Given the description of an element on the screen output the (x, y) to click on. 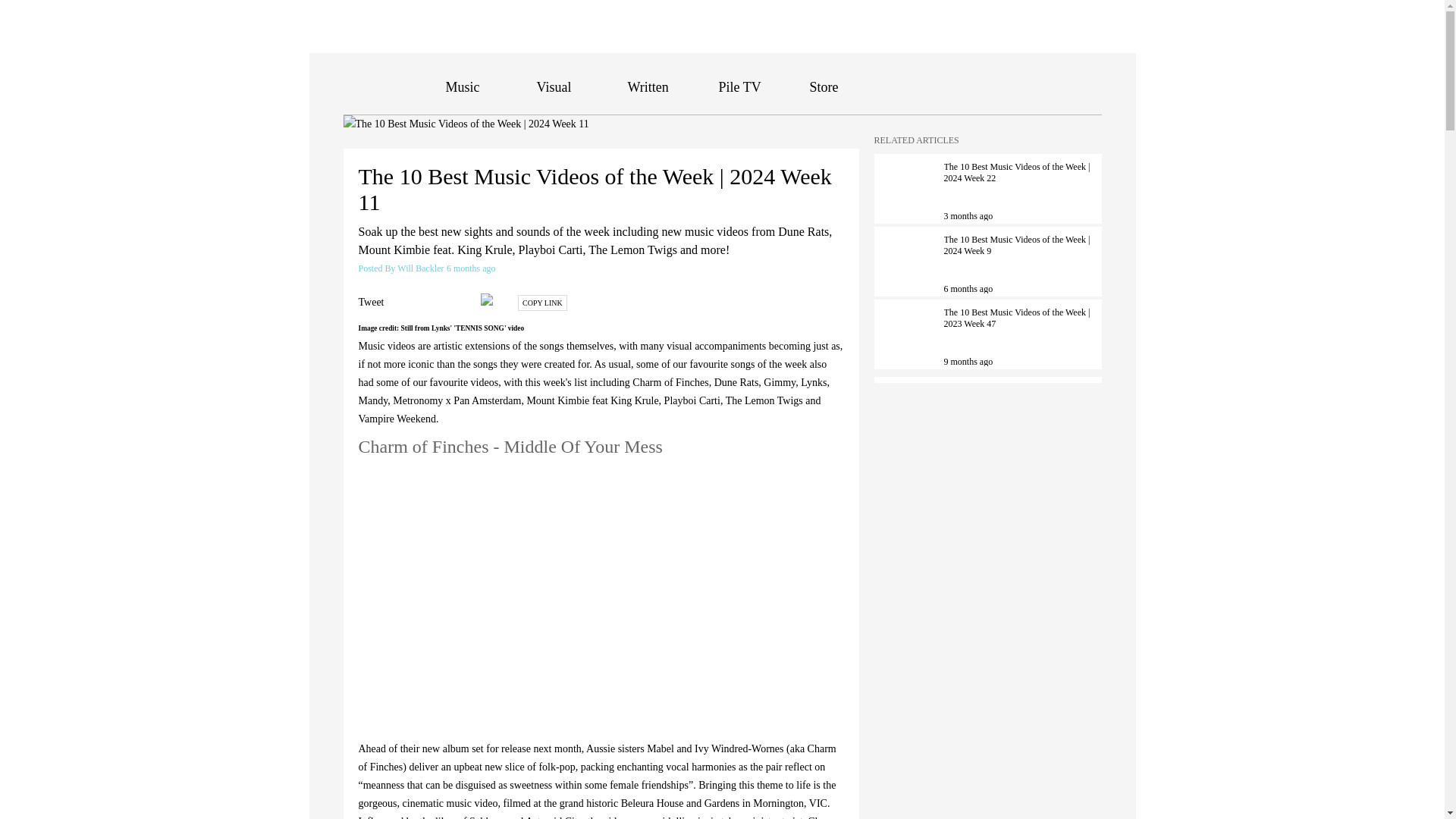
Home (393, 86)
Visual (554, 86)
Music (462, 86)
Written (647, 86)
Made In The Pile (1077, 87)
Written (647, 86)
Visual (554, 86)
Music (462, 86)
Pile TV (740, 86)
Share via email (490, 299)
